Given the description of an element on the screen output the (x, y) to click on. 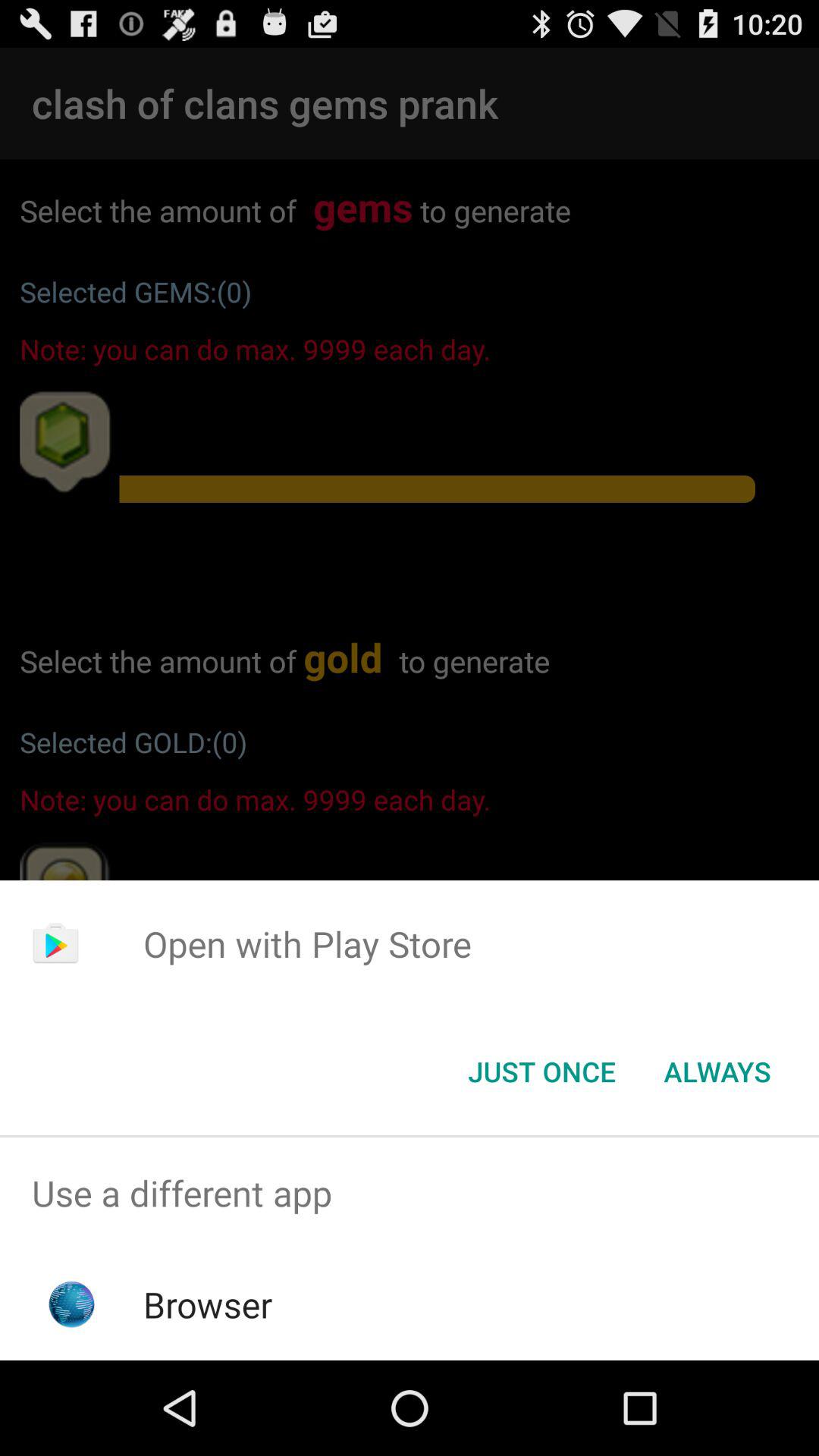
swipe to just once button (541, 1071)
